Given the description of an element on the screen output the (x, y) to click on. 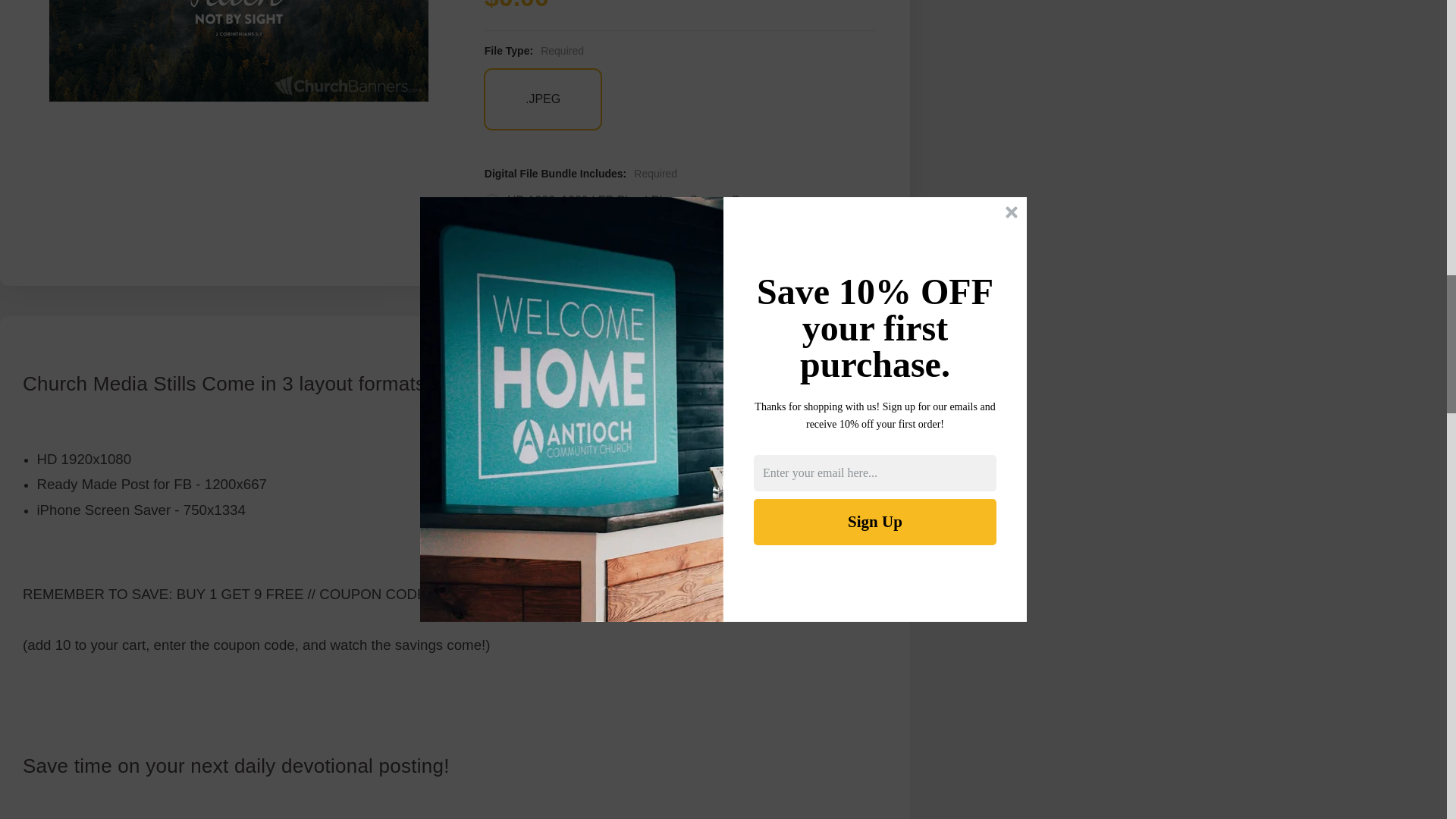
Add to Cart (740, 253)
1 (525, 253)
church media still faith (238, 50)
